Given the description of an element on the screen output the (x, y) to click on. 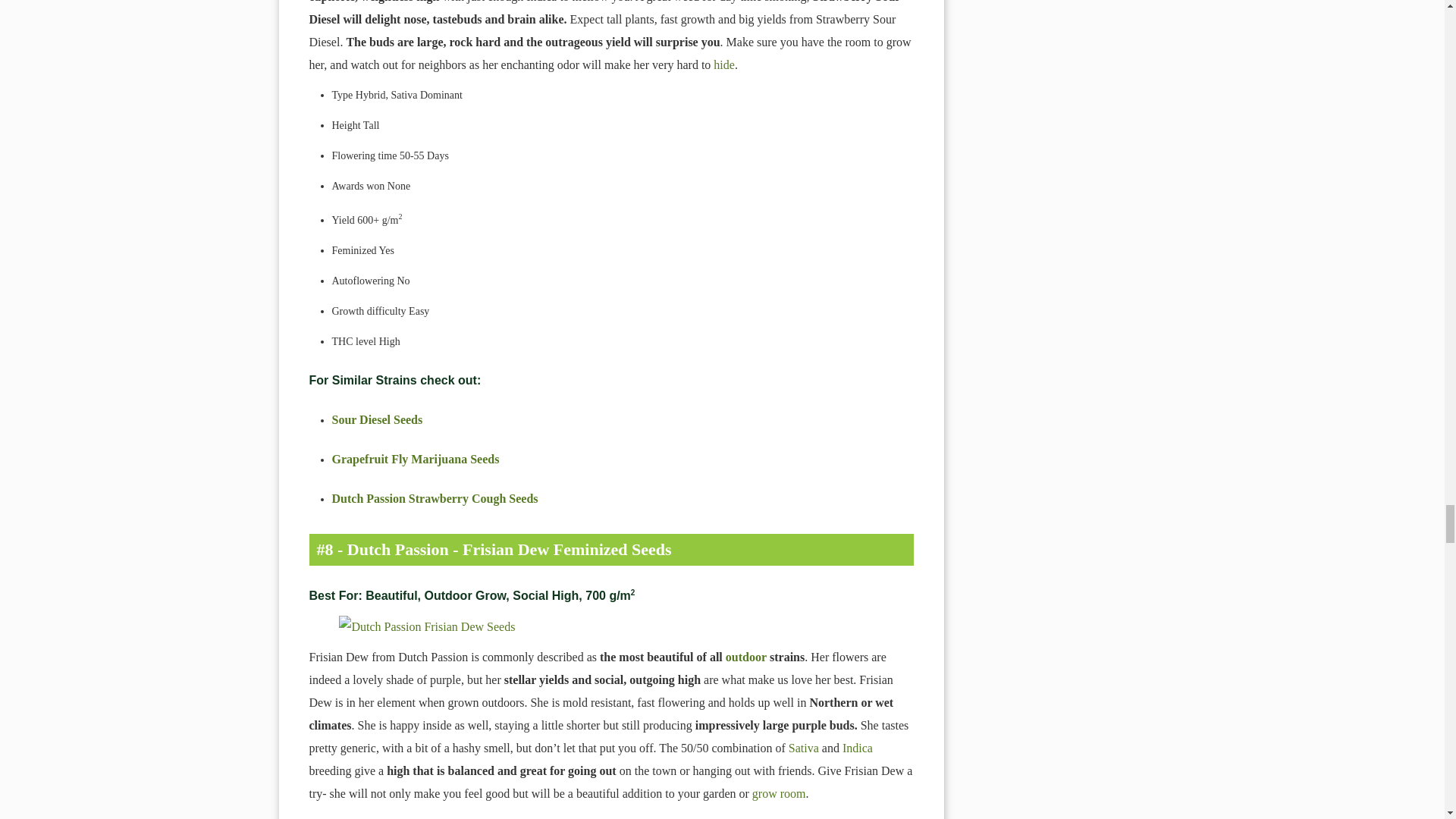
Dutch Passion Frisian Dew Seeds (611, 626)
